Given the description of an element on the screen output the (x, y) to click on. 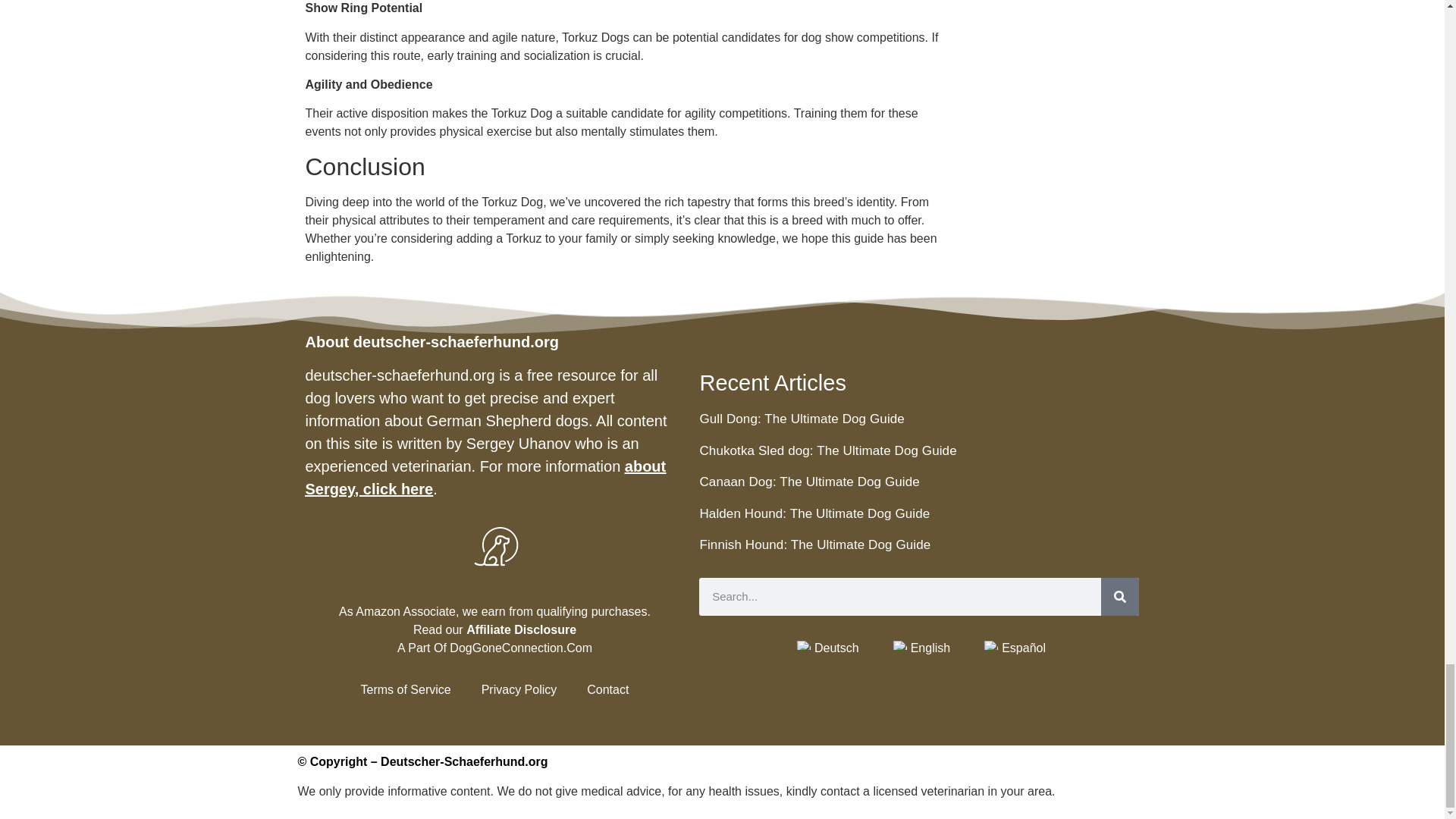
Deutsch (803, 645)
about Sergey, click here (484, 477)
English (900, 645)
